Given the description of an element on the screen output the (x, y) to click on. 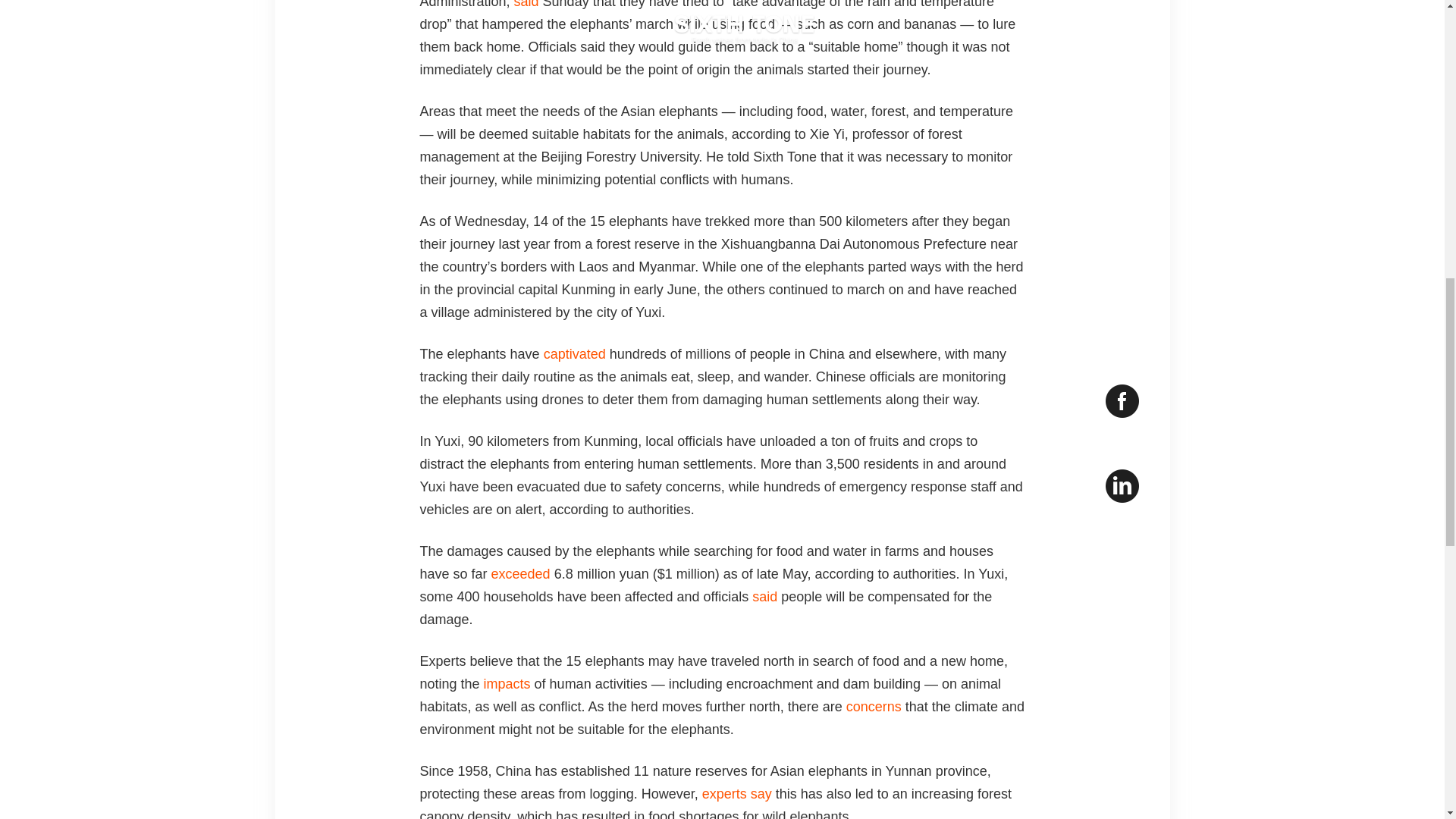
said (764, 596)
experts say (736, 793)
exceeded (521, 573)
captivated (574, 353)
said (525, 4)
concerns (873, 706)
impacts (507, 683)
